Given the description of an element on the screen output the (x, y) to click on. 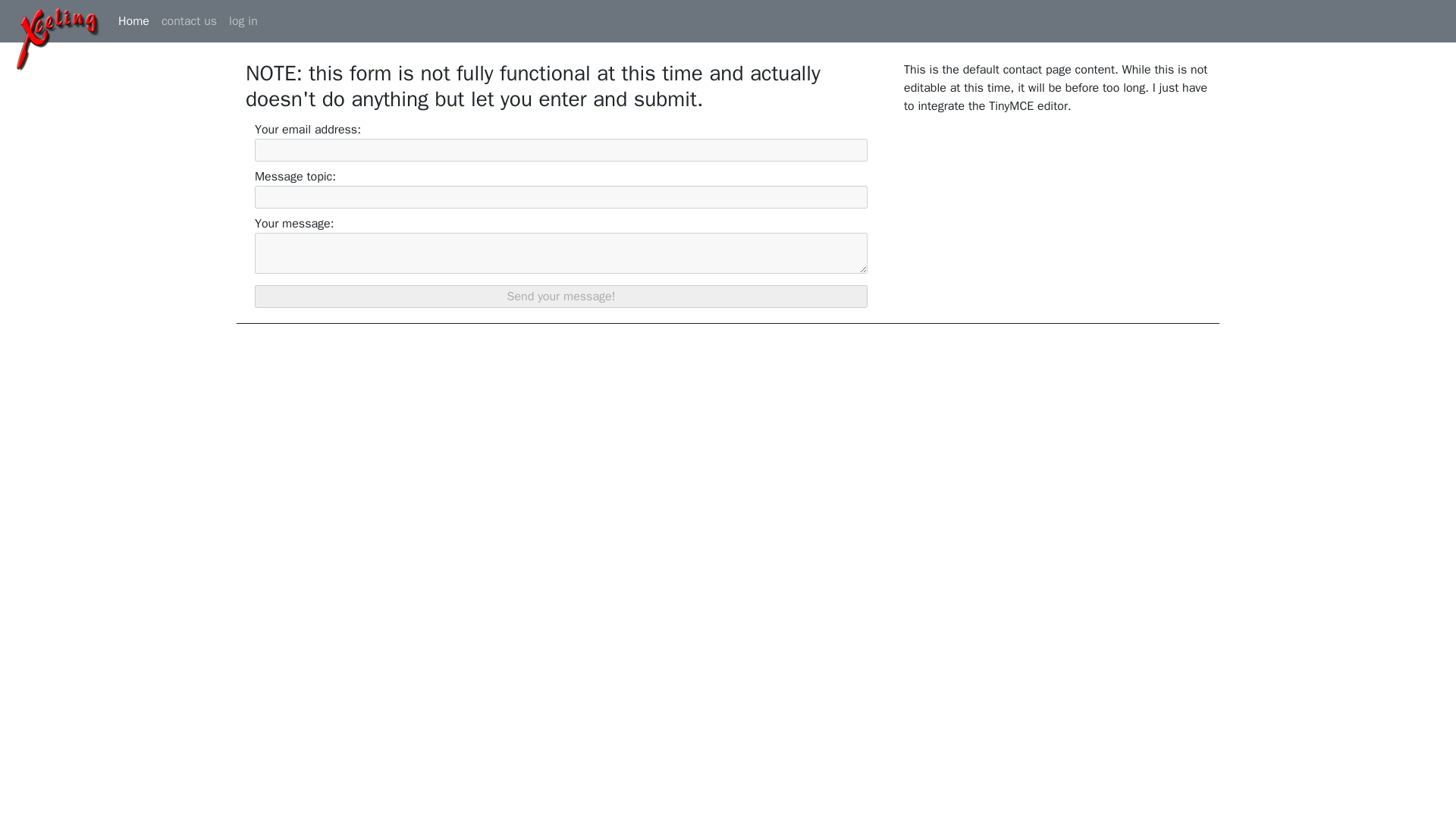
Send your message! (560, 296)
Home (133, 20)
log in (242, 20)
Send your message! (560, 296)
contact us (188, 20)
